Given the description of an element on the screen output the (x, y) to click on. 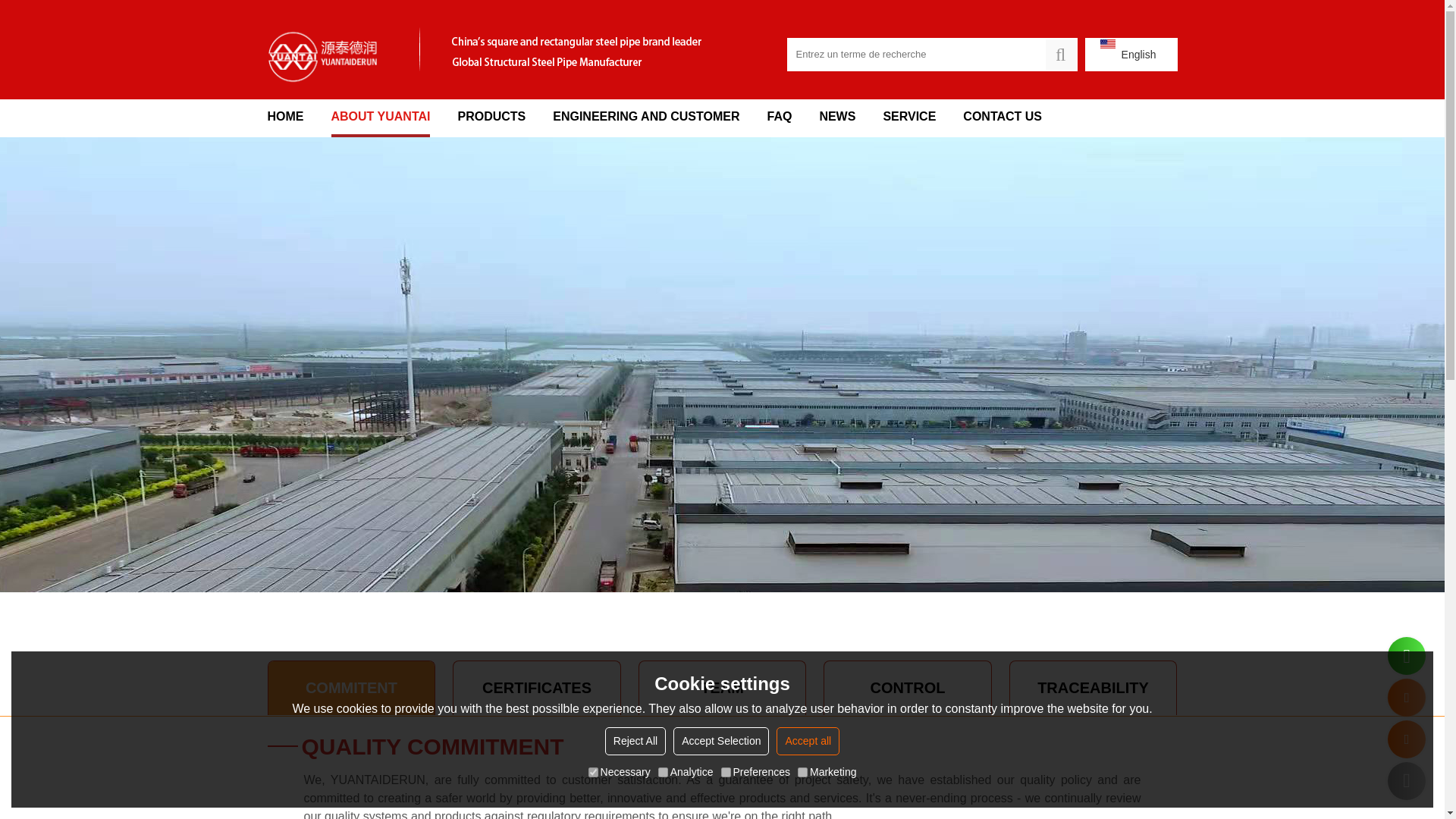
CONTACT US (1002, 118)
TRACEABILITY (1093, 687)
FAQ (779, 118)
ENGINEERING AND CUSTOMER (646, 118)
COMMITENT (351, 687)
ABOUT YUANTAI (379, 118)
ABOUT YUANTAI (379, 118)
PRODUCTS (491, 118)
NEWS (837, 118)
on (663, 772)
 English (1131, 54)
English (1131, 54)
on (725, 772)
TEAM (722, 687)
